Given the description of an element on the screen output the (x, y) to click on. 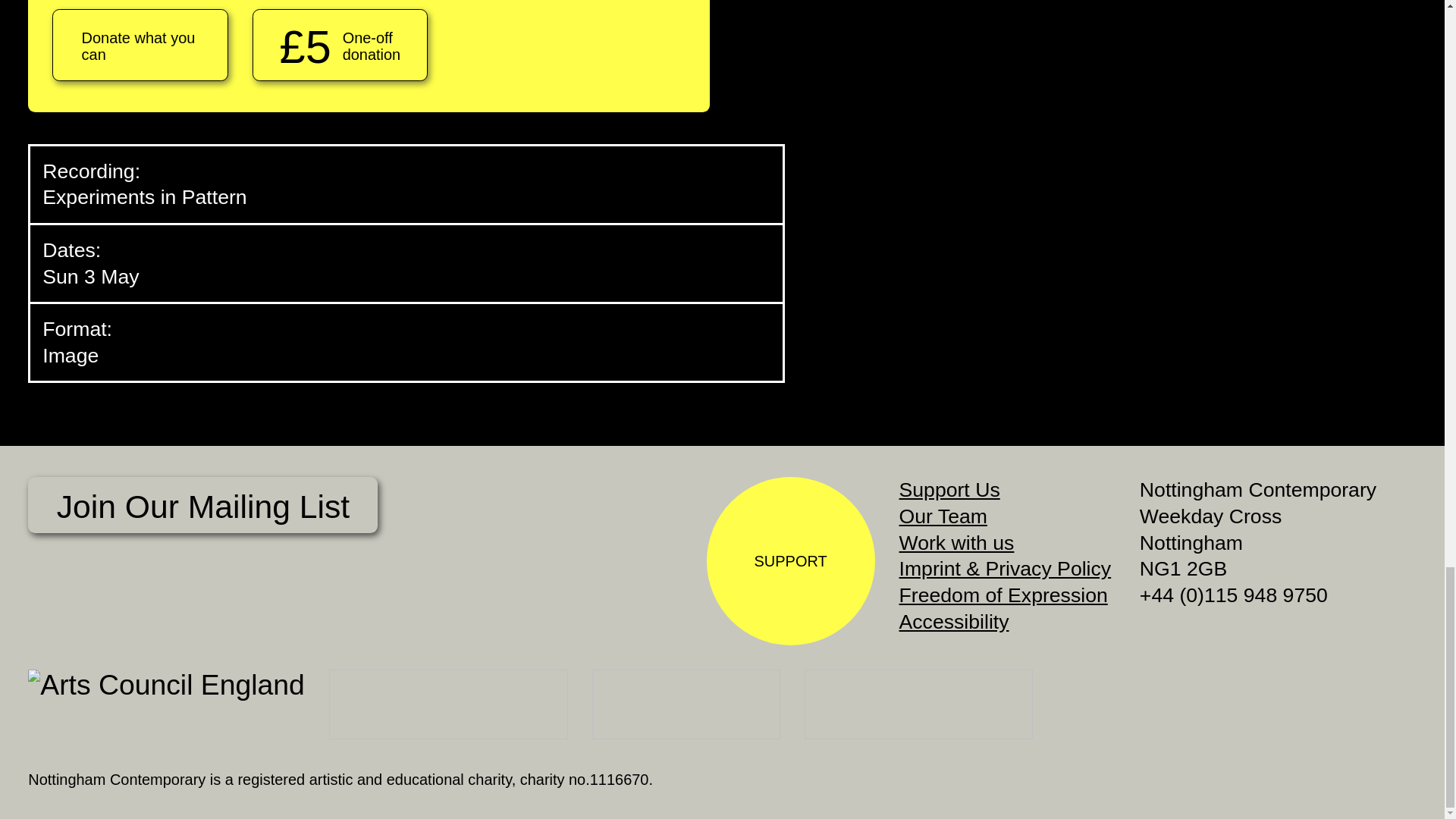
Our Team (943, 516)
Donate what you can (139, 45)
Accessibility (954, 621)
Support Us (949, 489)
Freedom of Expression (1003, 594)
Join Our Mailing List (202, 504)
SUPPORT (790, 560)
Work with us (956, 542)
